Given the description of an element on the screen output the (x, y) to click on. 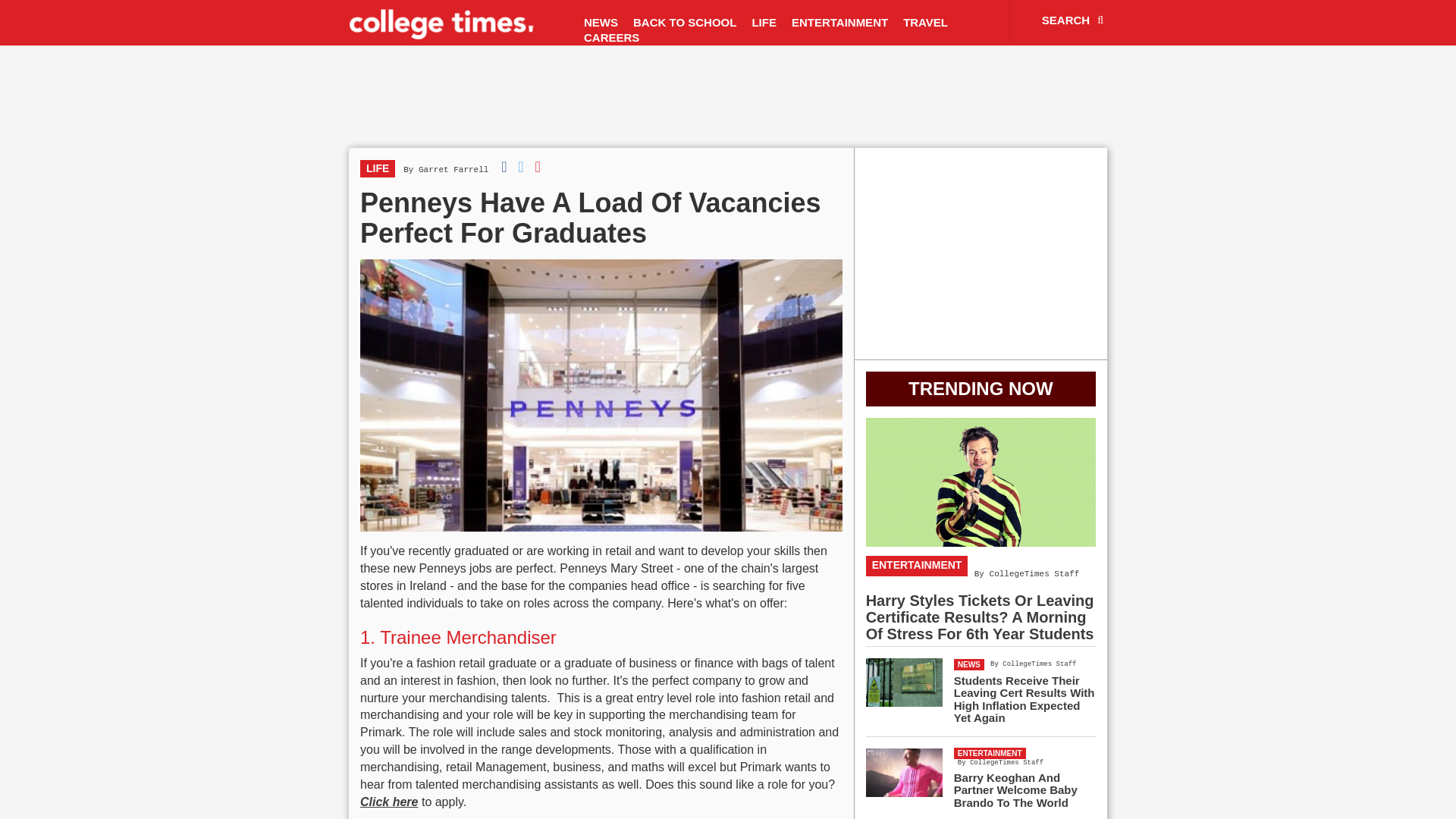
Garret Farrell (453, 169)
BACK TO SCHOOL (685, 22)
LIFE (376, 168)
CAREERS (611, 37)
NEWS (601, 22)
LIFE (764, 22)
ENTERTAINMENT (839, 22)
Click here (388, 801)
TRAVEL (925, 22)
